Given the description of an element on the screen output the (x, y) to click on. 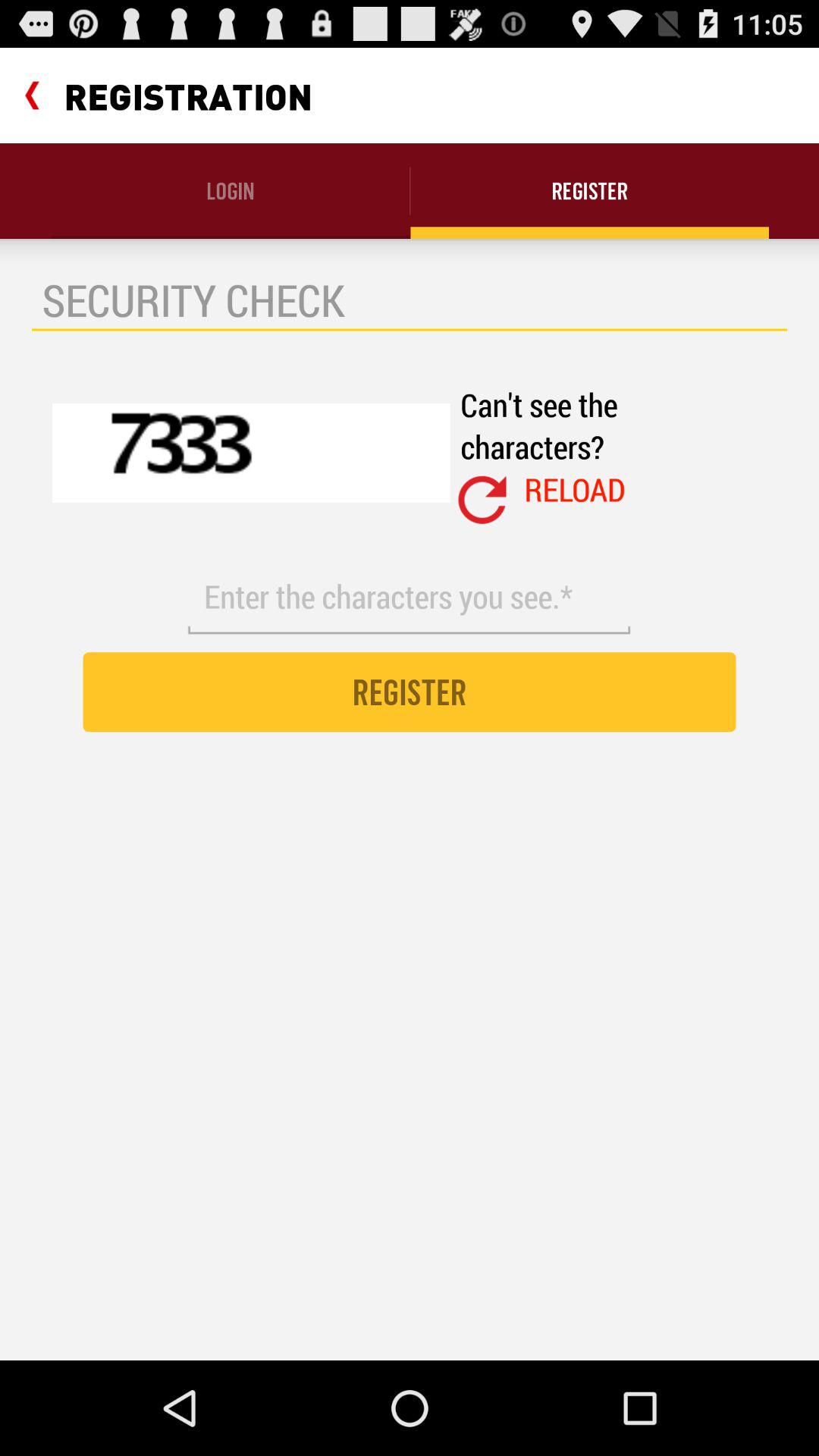
tap icon next to reload item (482, 499)
